Given the description of an element on the screen output the (x, y) to click on. 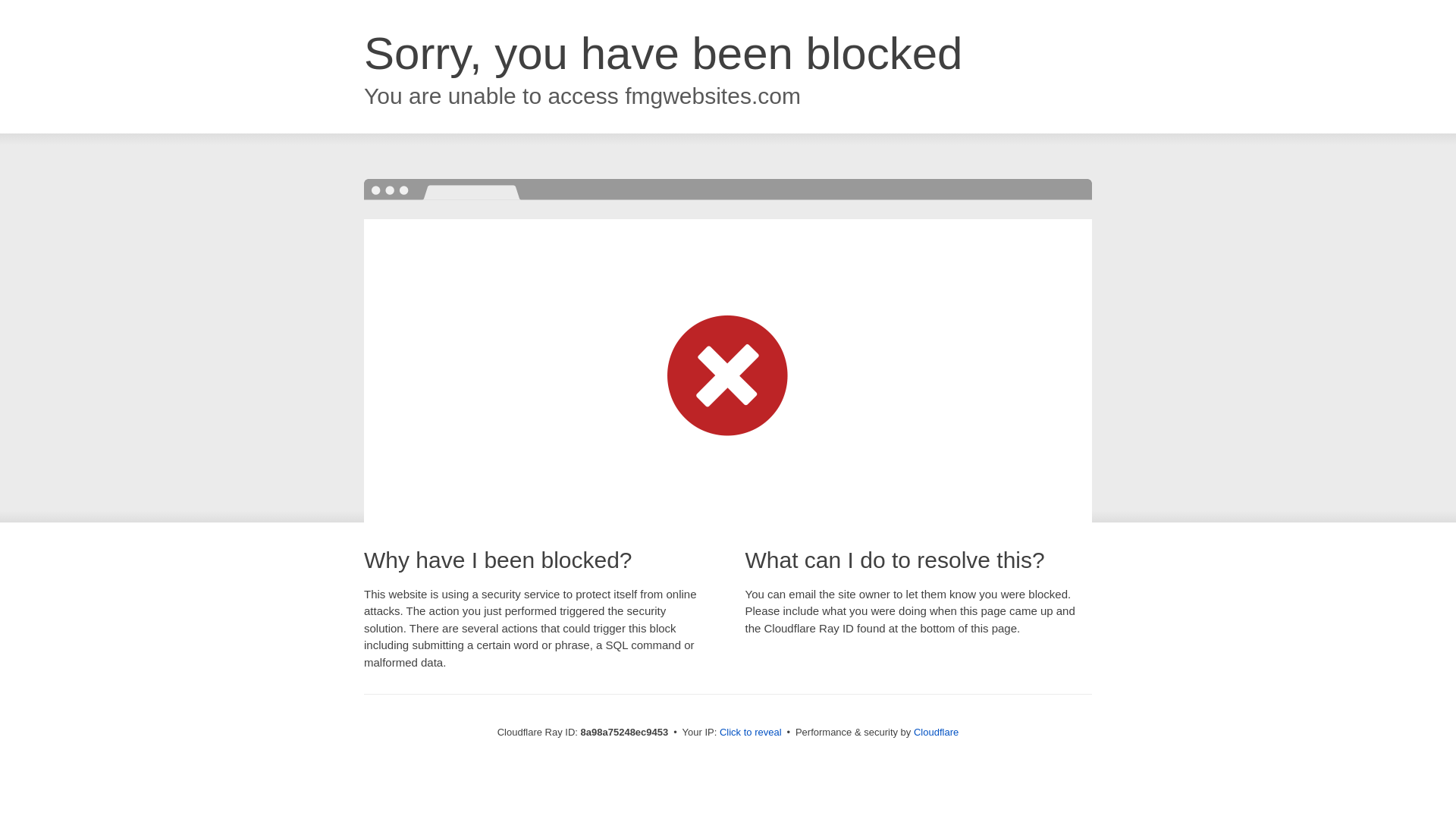
Cloudflare (936, 731)
Click to reveal (750, 732)
